Given the description of an element on the screen output the (x, y) to click on. 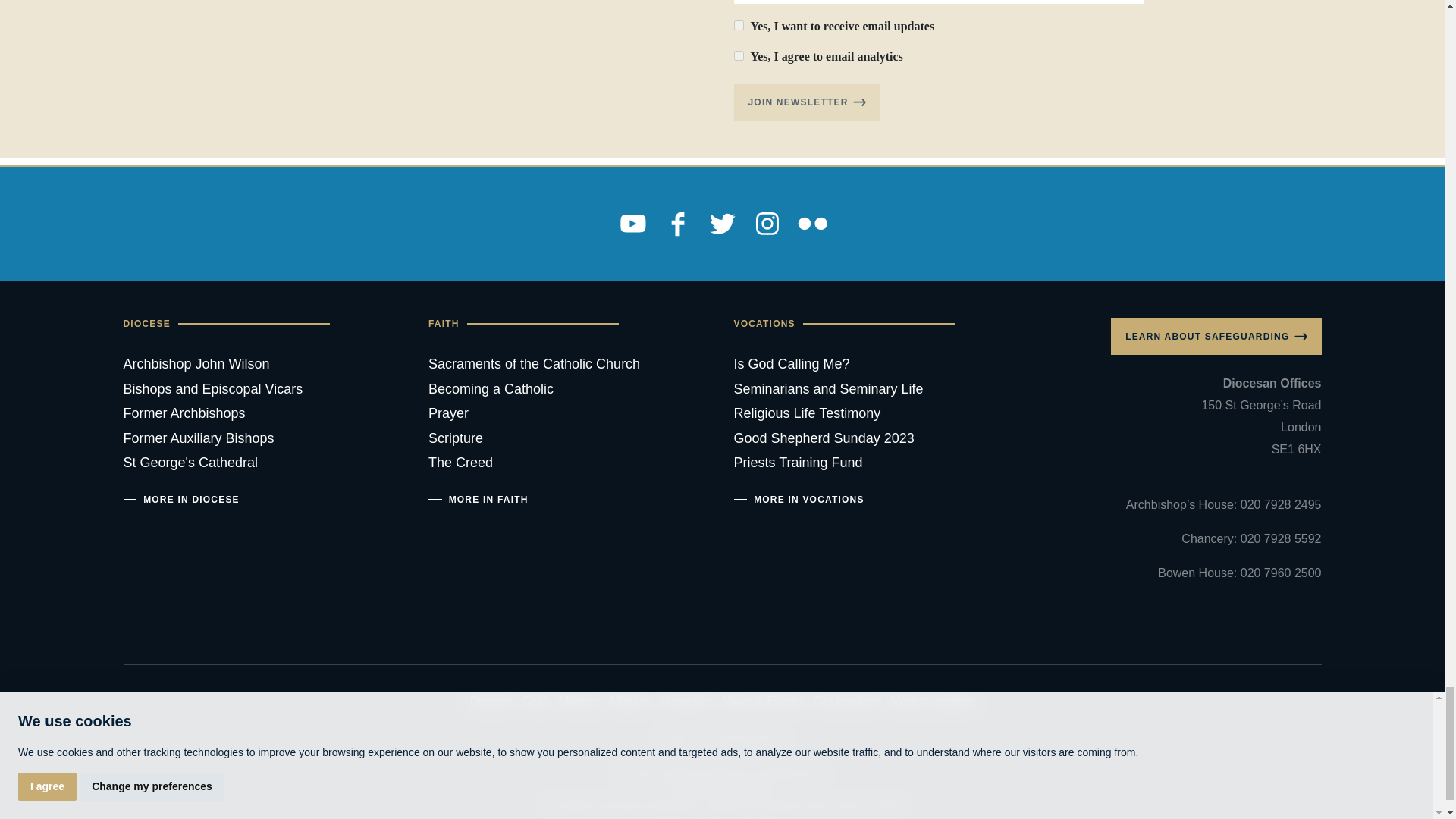
on (738, 25)
on (738, 55)
